Given the description of an element on the screen output the (x, y) to click on. 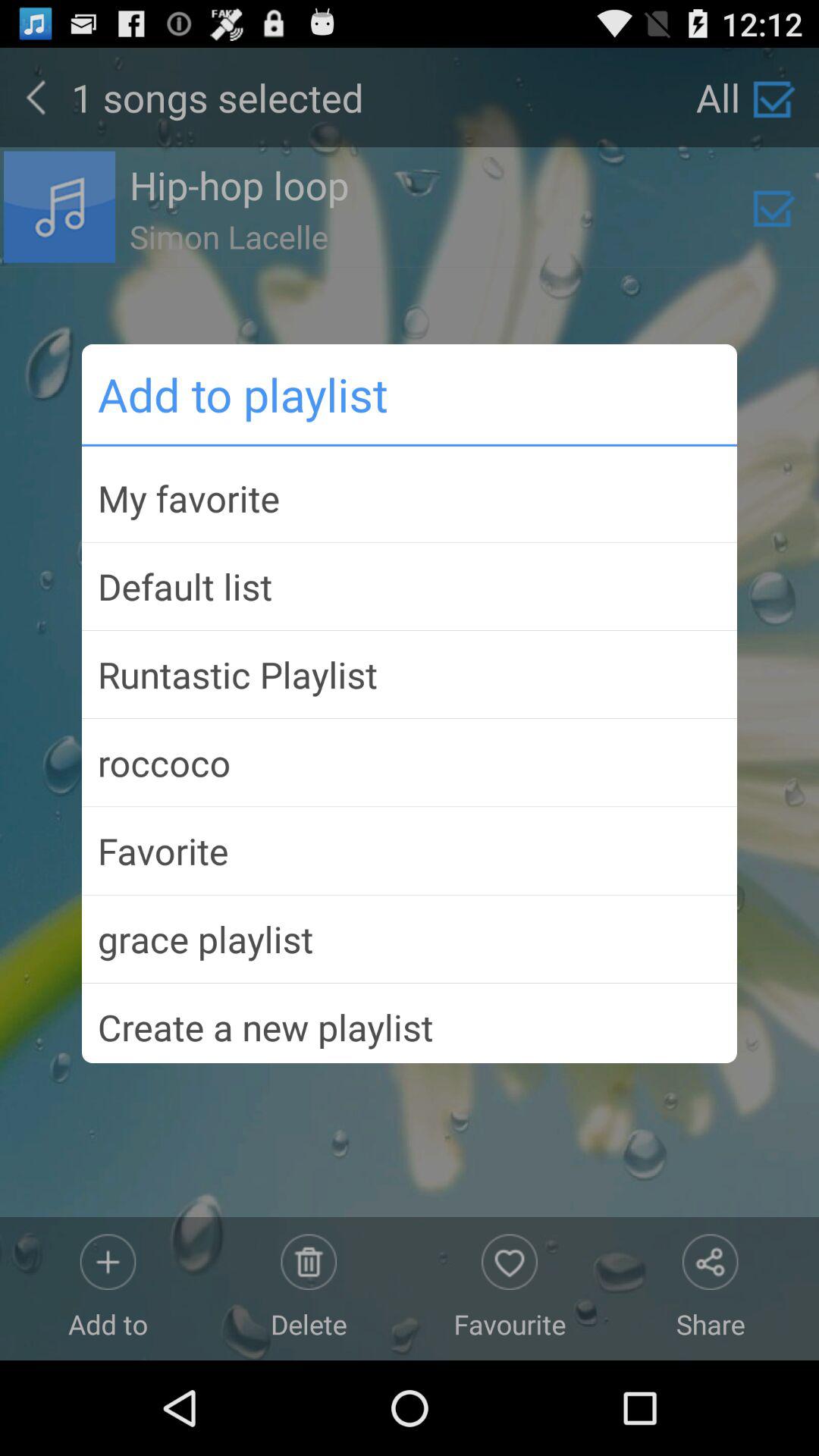
open app at the bottom (409, 1021)
